Given the description of an element on the screen output the (x, y) to click on. 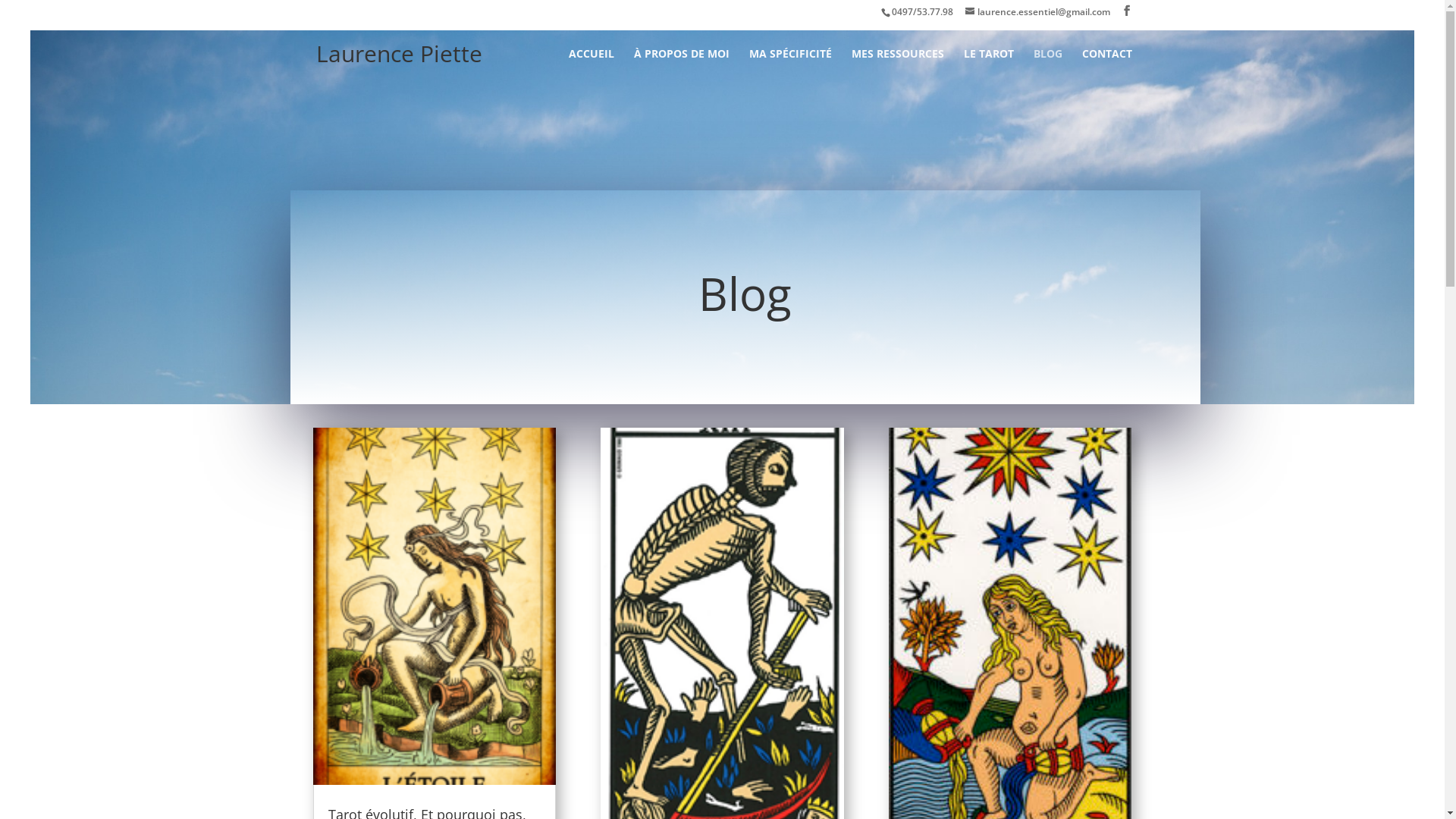
MES RESSOURCES Element type: text (896, 66)
BLOG Element type: text (1046, 66)
ACCUEIL Element type: text (591, 66)
LE TAROT Element type: text (988, 66)
laurence.essentiel@gmail.com Element type: text (1036, 11)
Laurence Piette Element type: text (398, 52)
CONTACT Element type: text (1106, 66)
0497/53.77.98 Element type: text (922, 11)
